Given the description of an element on the screen output the (x, y) to click on. 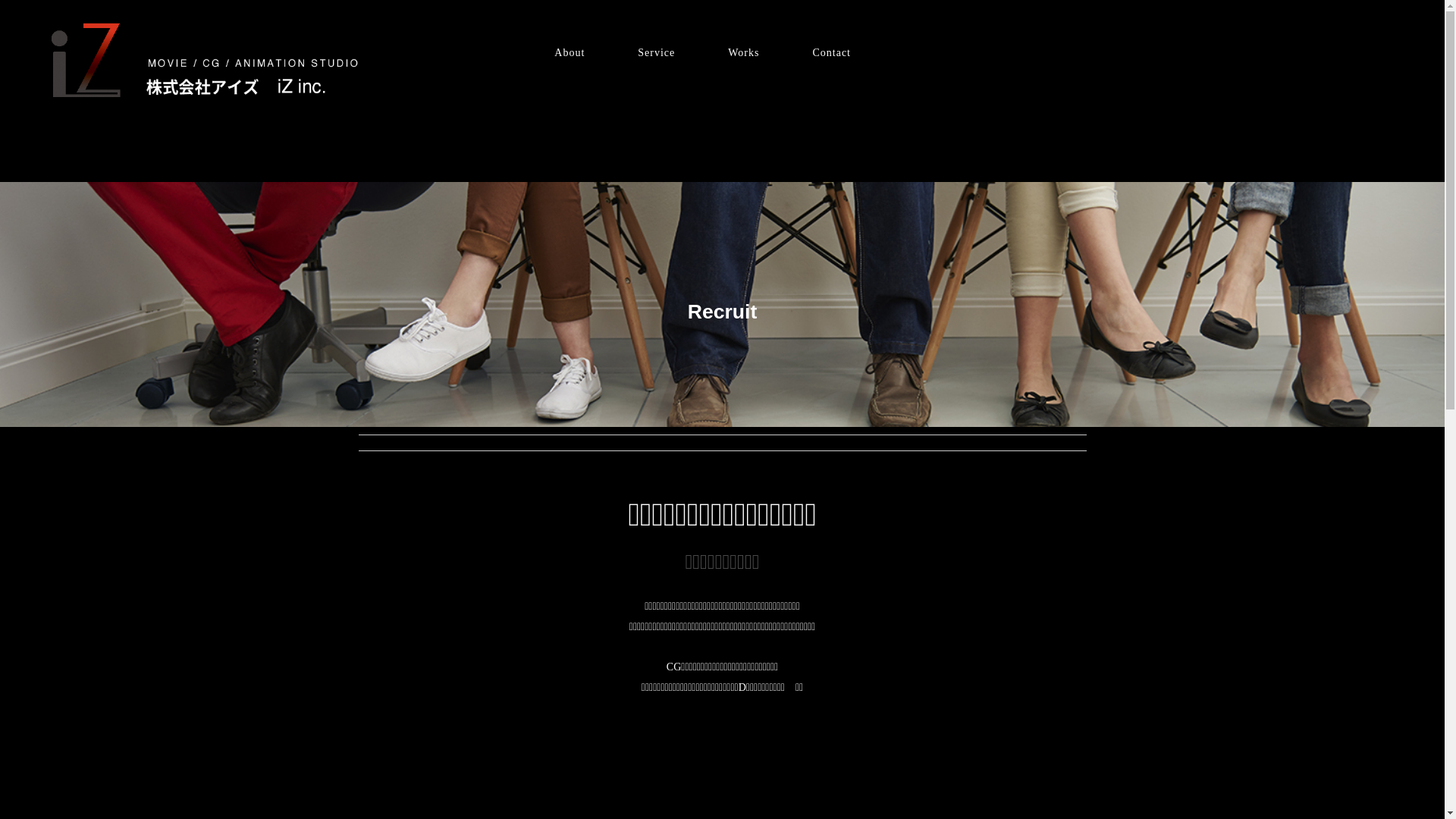
Contact Element type: text (831, 52)
Service Element type: text (655, 52)
Works Element type: text (743, 52)
About Element type: text (569, 52)
